Given the description of an element on the screen output the (x, y) to click on. 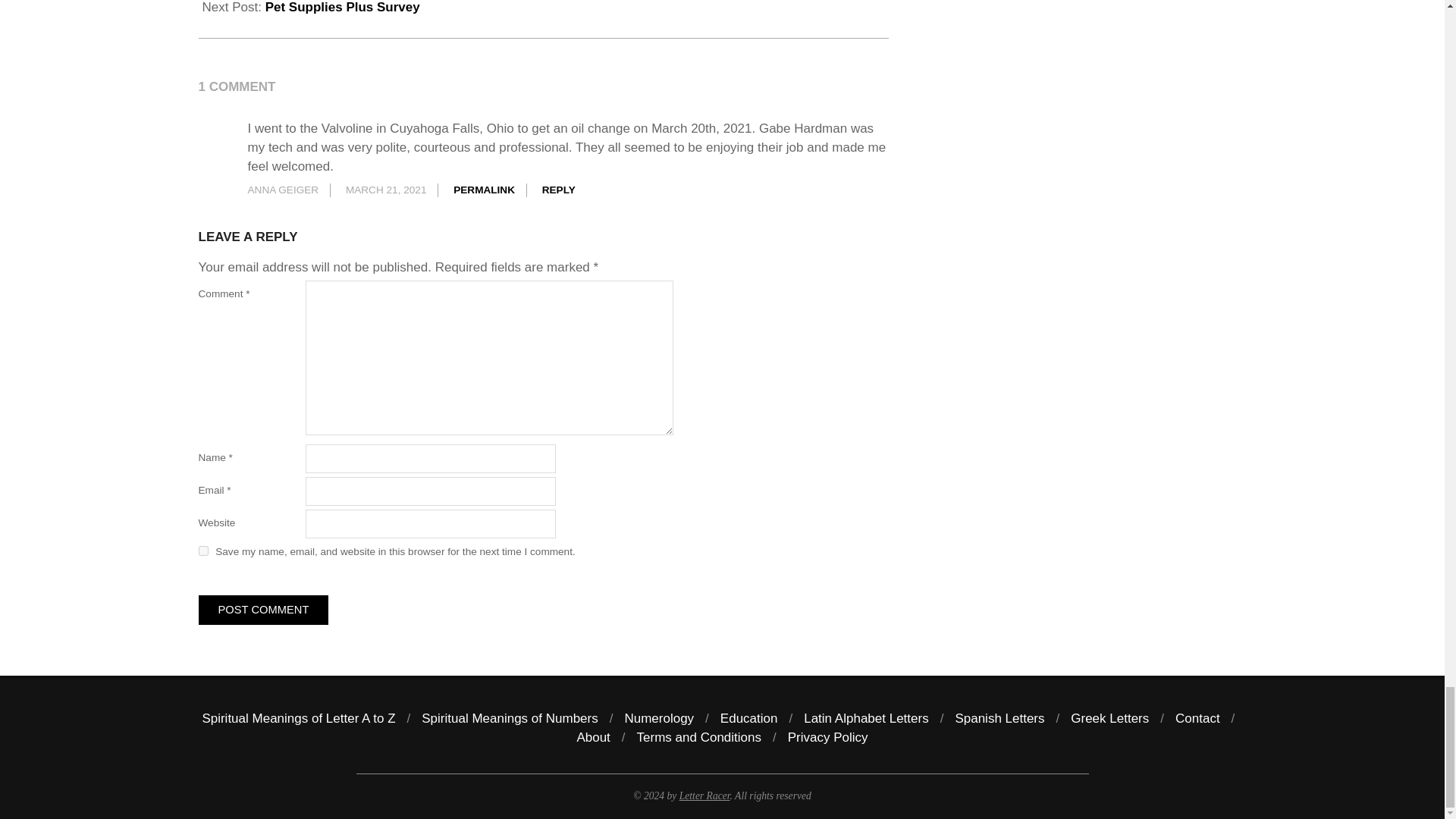
Post Comment (263, 609)
Post Comment (263, 609)
PERMALINK (483, 189)
Pet Supplies Plus Survey (342, 7)
Sunday, March 21, 2021, 10:24 pm (386, 189)
Spiritual Meanings of Letter A to Z (298, 718)
REPLY (558, 189)
yes (203, 551)
